Given the description of an element on the screen output the (x, y) to click on. 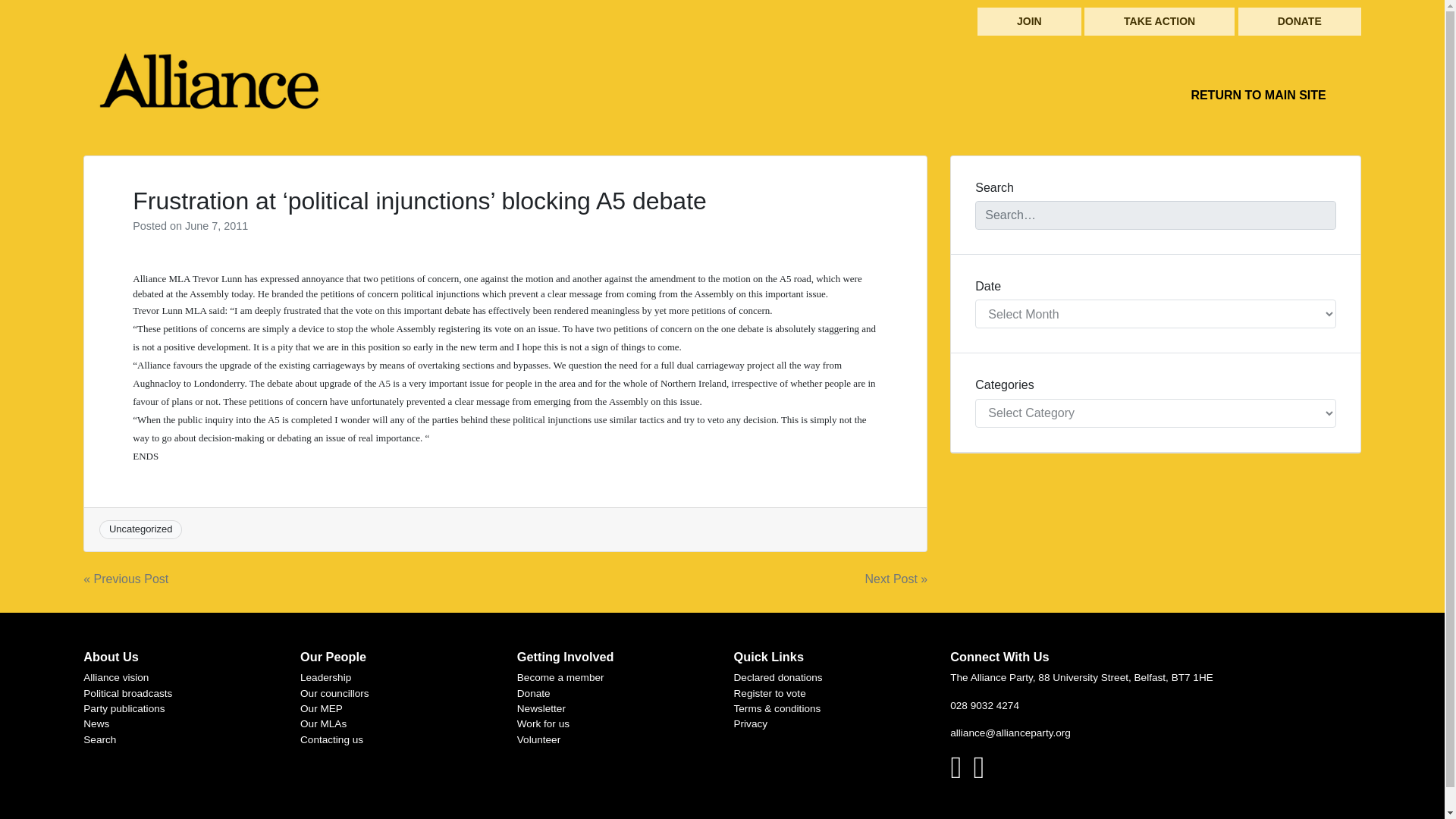
JOIN (1028, 21)
DONATE (1300, 21)
Contacting us (330, 739)
Our councillors (334, 693)
Newsletter (541, 708)
Our MLAs (322, 723)
Party publications (123, 708)
028 9032 4274 (984, 705)
News (95, 723)
Work for us (542, 723)
Alliance vision (115, 677)
Volunteer (538, 739)
Privacy (750, 723)
Leadership (324, 677)
Register to vote (769, 693)
